Given the description of an element on the screen output the (x, y) to click on. 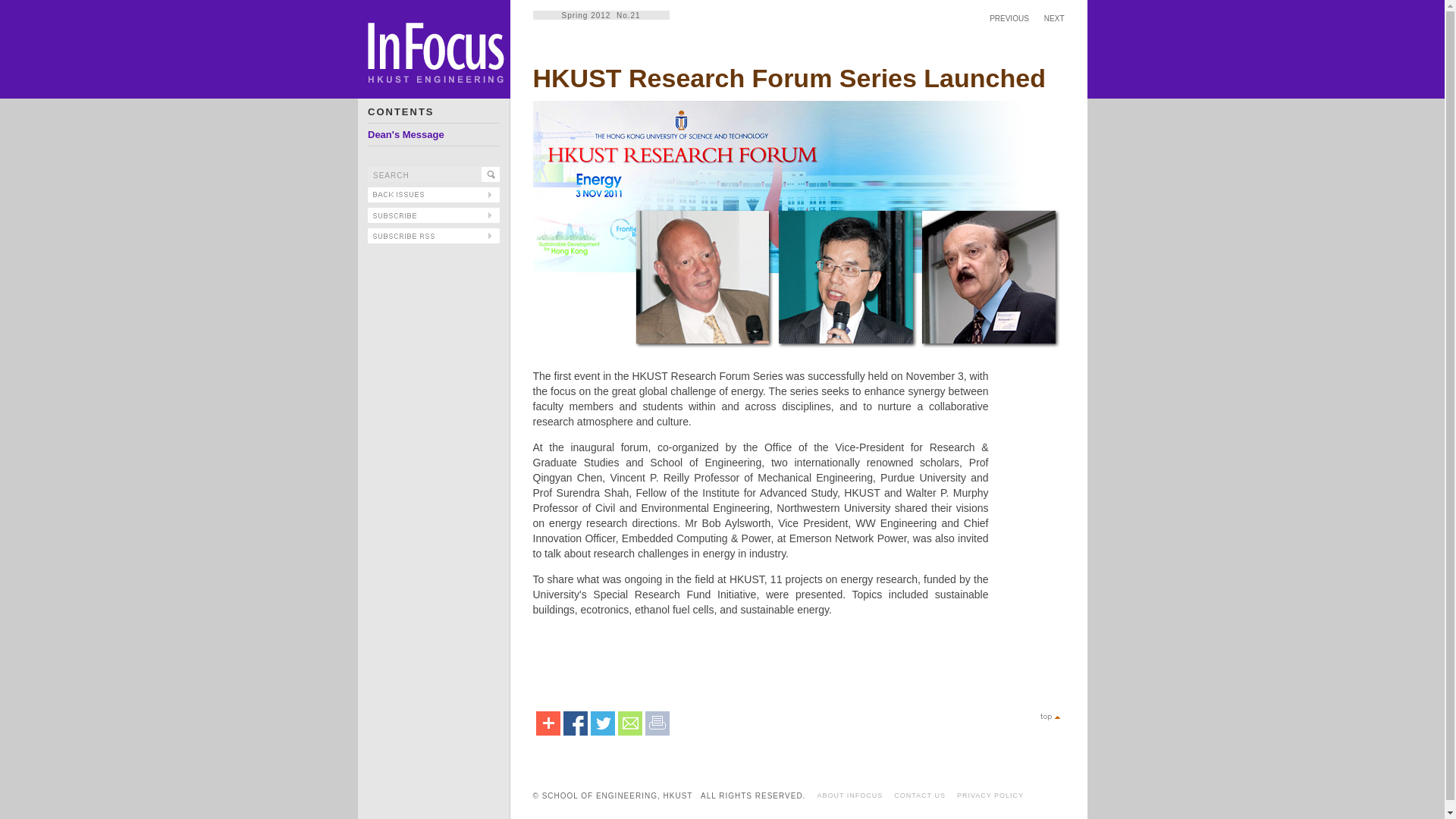
NEXT (1053, 17)
Dean's Message (406, 134)
CONTACT US (918, 795)
SEARCH (424, 174)
CONTENTS (400, 111)
ABOUT INFOCUS (849, 795)
PRIVACY POLICY (989, 795)
PREVIOUS (1009, 17)
